Given the description of an element on the screen output the (x, y) to click on. 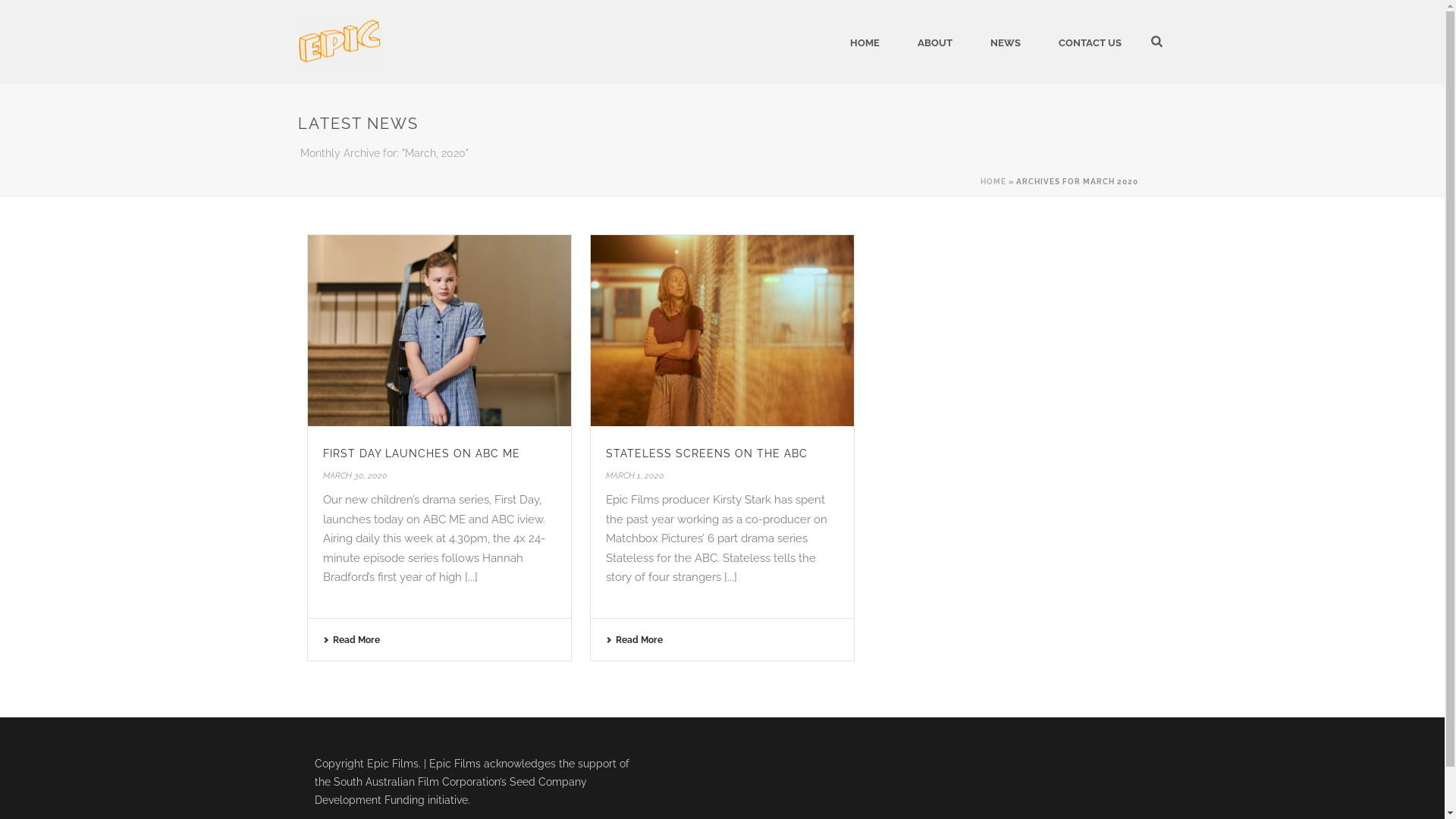
  Element type: text (439, 330)
STATELESS SCREENS ON THE ABC Element type: text (706, 453)
Read More Element type: text (351, 639)
NEWS Element type: text (1005, 41)
First Day Launches on ABC ME Element type: hover (439, 330)
Read More Element type: text (633, 639)
CONTACT US Element type: text (1089, 41)
Stateless Screens on the ABC Element type: hover (721, 330)
HOME Element type: text (992, 181)
  Element type: text (721, 330)
ABOUT Element type: text (934, 41)
HOME Element type: text (864, 41)
MARCH 1, 2020 Element type: text (634, 475)
FIRST DAY LAUNCHES ON ABC ME Element type: text (421, 453)
MARCH 30, 2020 Element type: text (355, 475)
